Given the description of an element on the screen output the (x, y) to click on. 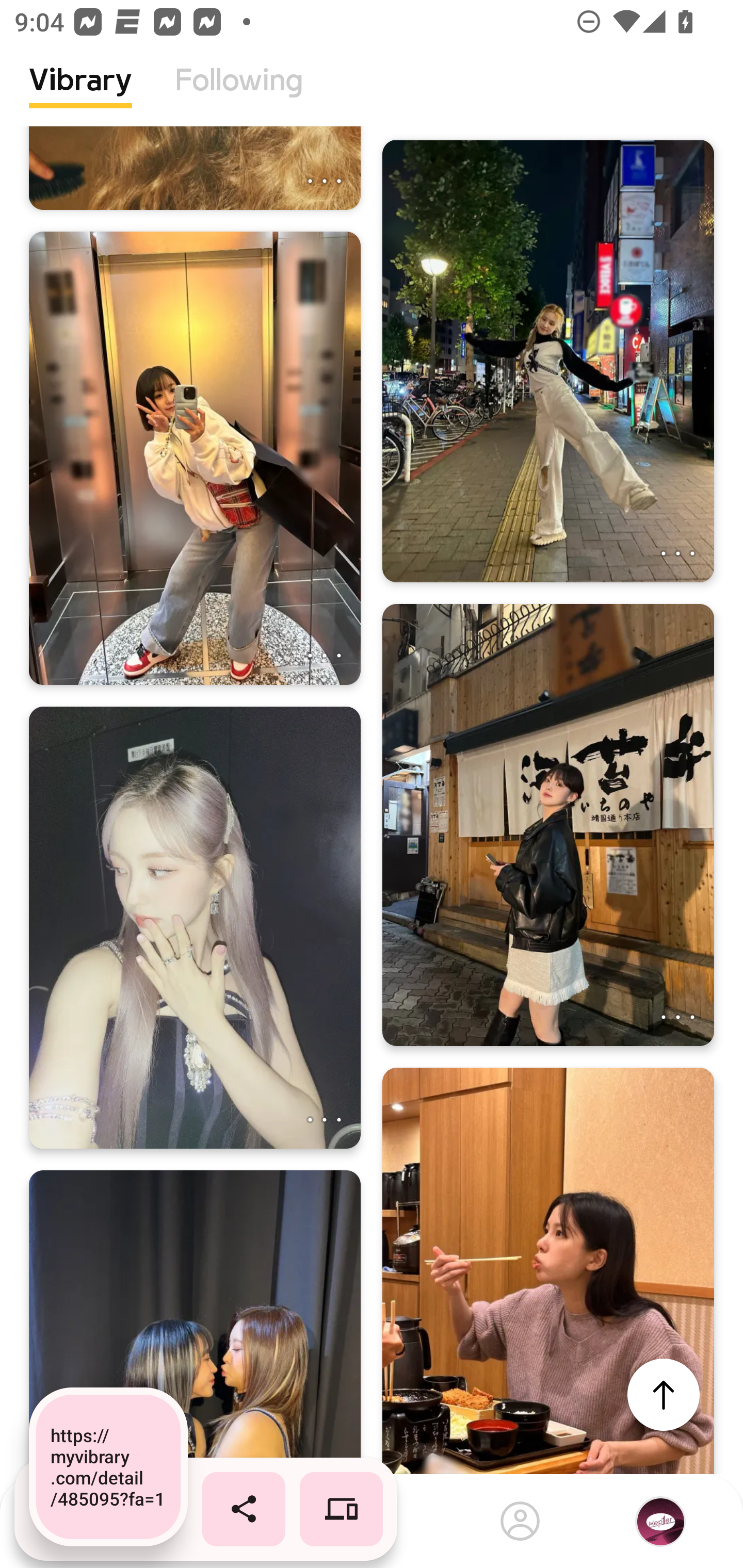
Vibrary (80, 95)
Following (239, 95)
